Given the description of an element on the screen output the (x, y) to click on. 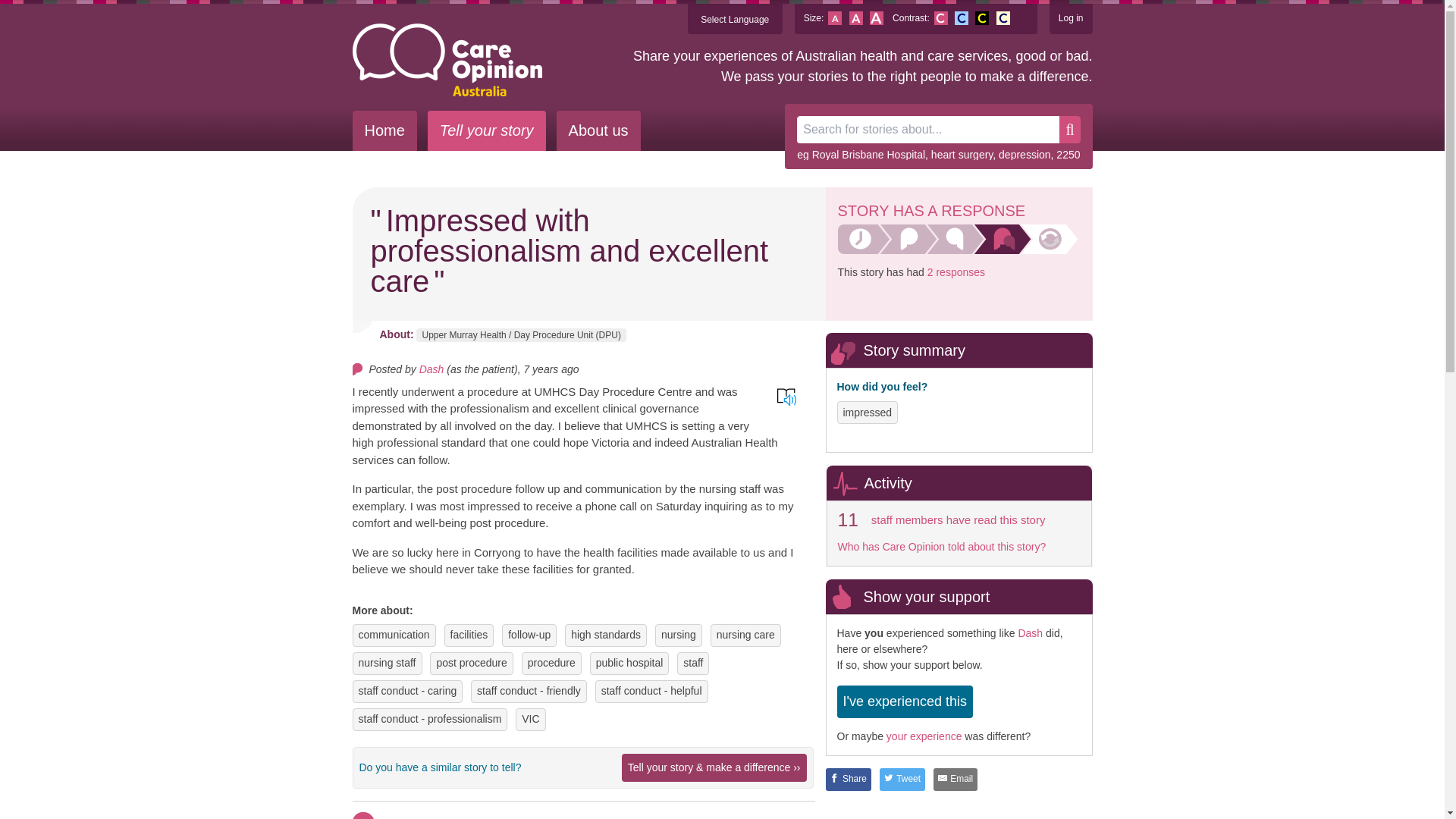
follow-up (529, 634)
nursing staff (386, 662)
post procedure (470, 662)
staff conduct - professionalism (429, 719)
soft (1002, 18)
Search for stories about... (927, 129)
See all the responses below (956, 272)
Care Opinion home page (446, 59)
staff (692, 662)
nursing care (745, 634)
public hospital (629, 662)
procedure (551, 662)
staff conduct - helpful (651, 691)
nursing (678, 634)
Reset (855, 18)
